Given the description of an element on the screen output the (x, y) to click on. 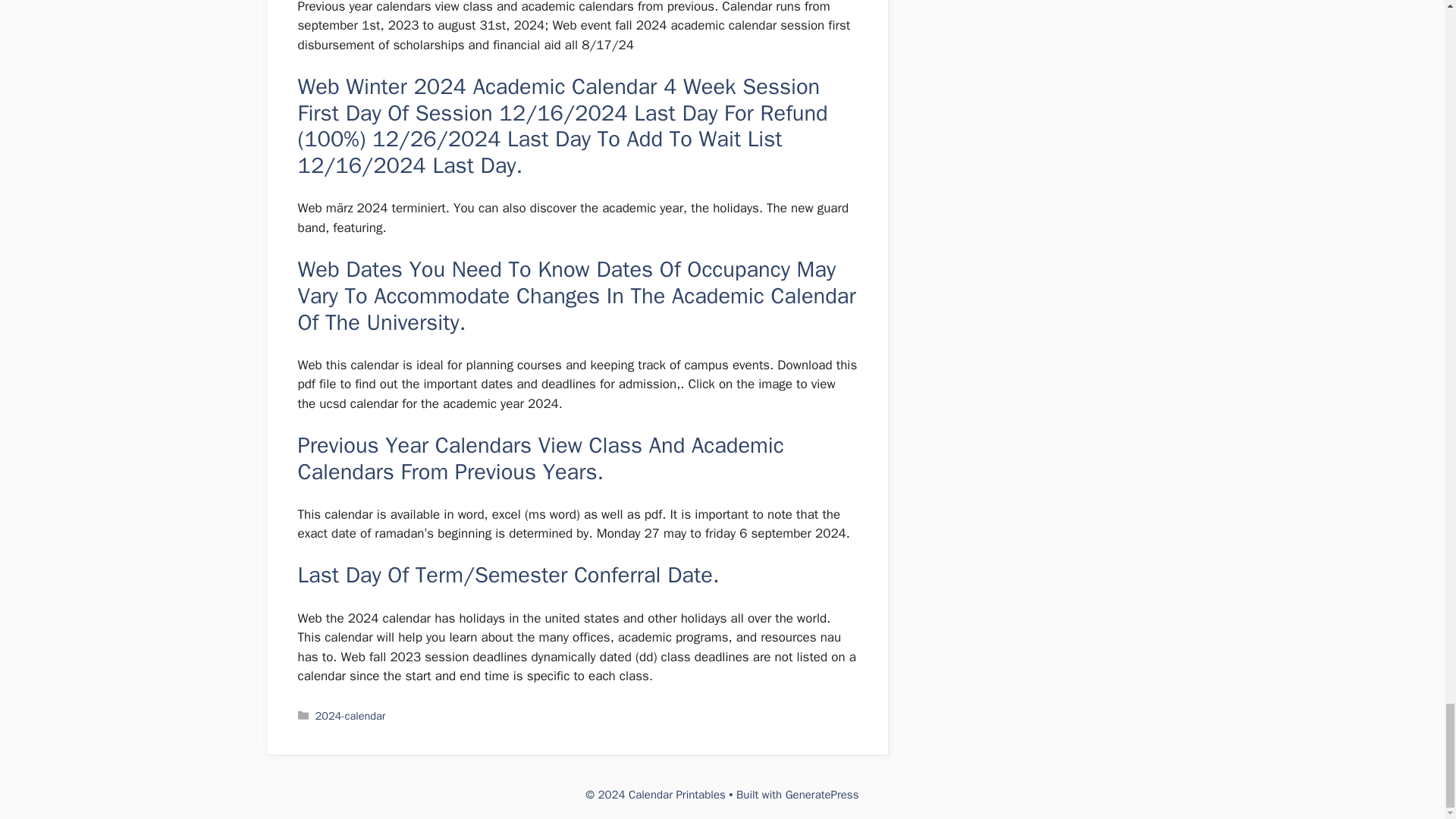
2024-calendar (350, 715)
GeneratePress (822, 794)
